Given the description of an element on the screen output the (x, y) to click on. 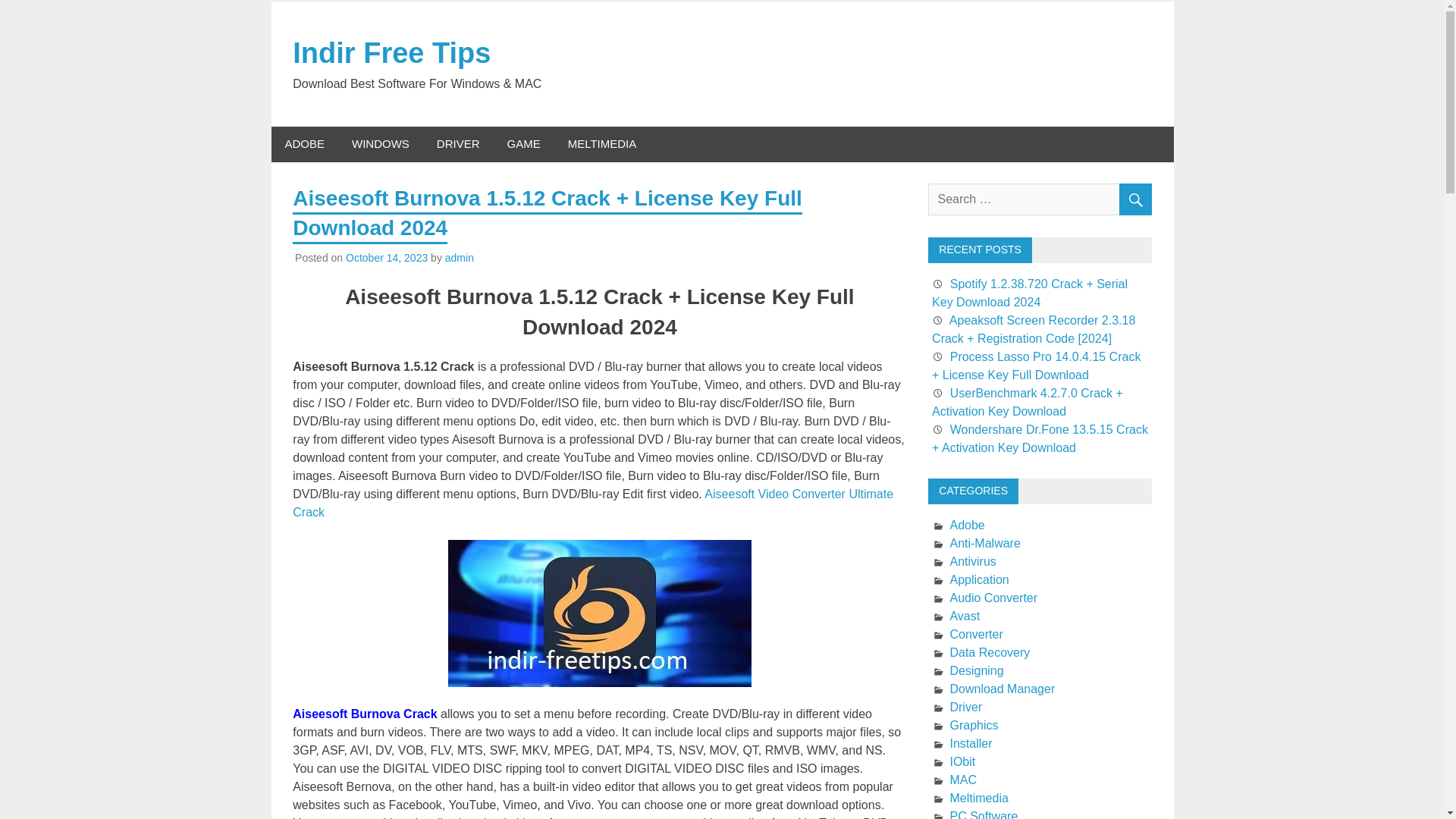
October 14, 2023 (387, 257)
5:50 am (387, 257)
Aiseesoft Burnova Crack (364, 713)
Aiseesoft Video Converter Ultimate Crack (592, 502)
MELTIMEDIA (602, 144)
admin (459, 257)
ADOBE (304, 144)
View all posts by admin (459, 257)
DRIVER (458, 144)
GAME (523, 144)
